Given the description of an element on the screen output the (x, y) to click on. 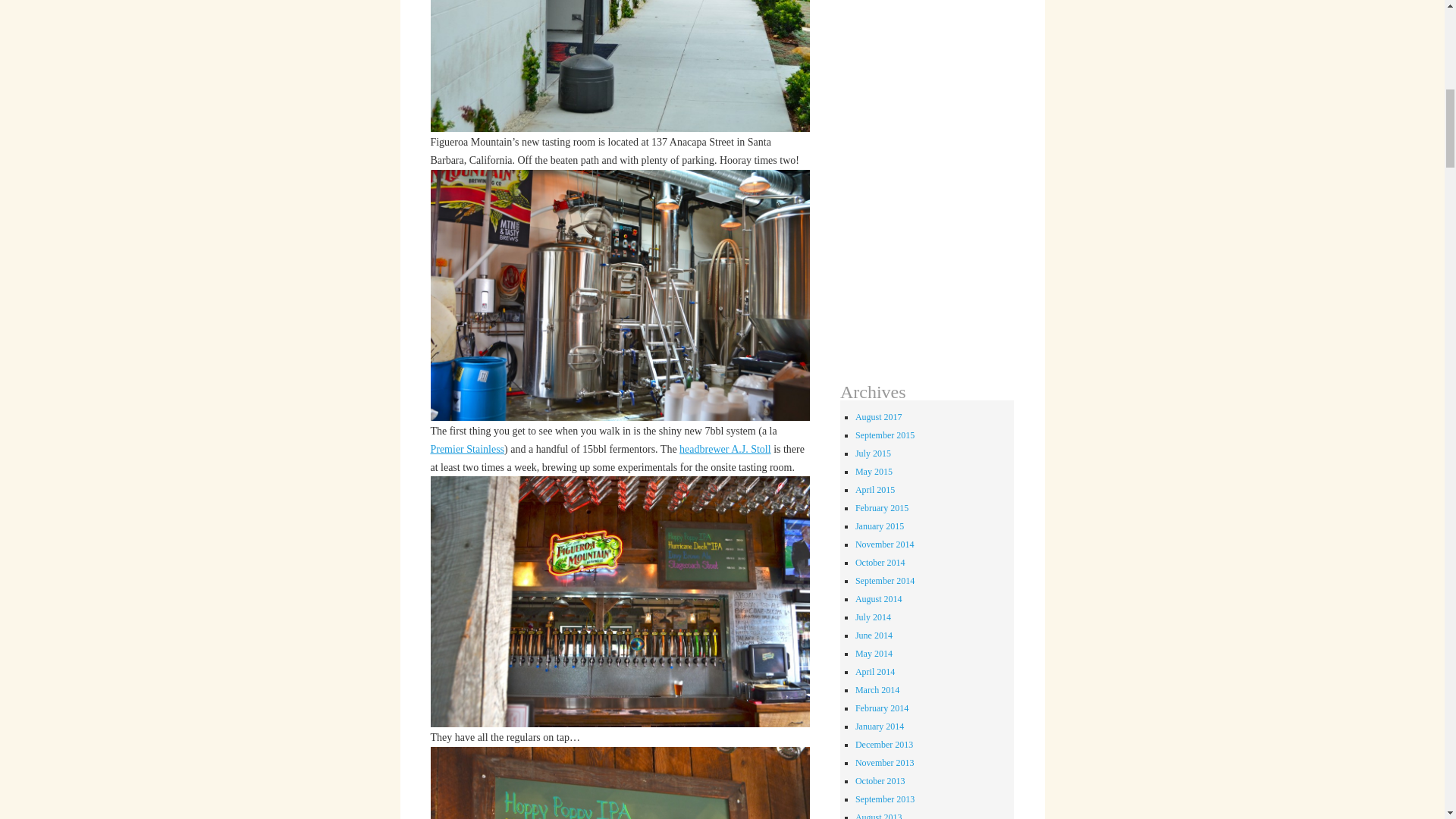
Premier Stainless (466, 449)
headbrewer A.J. Stoll (725, 449)
